Given the description of an element on the screen output the (x, y) to click on. 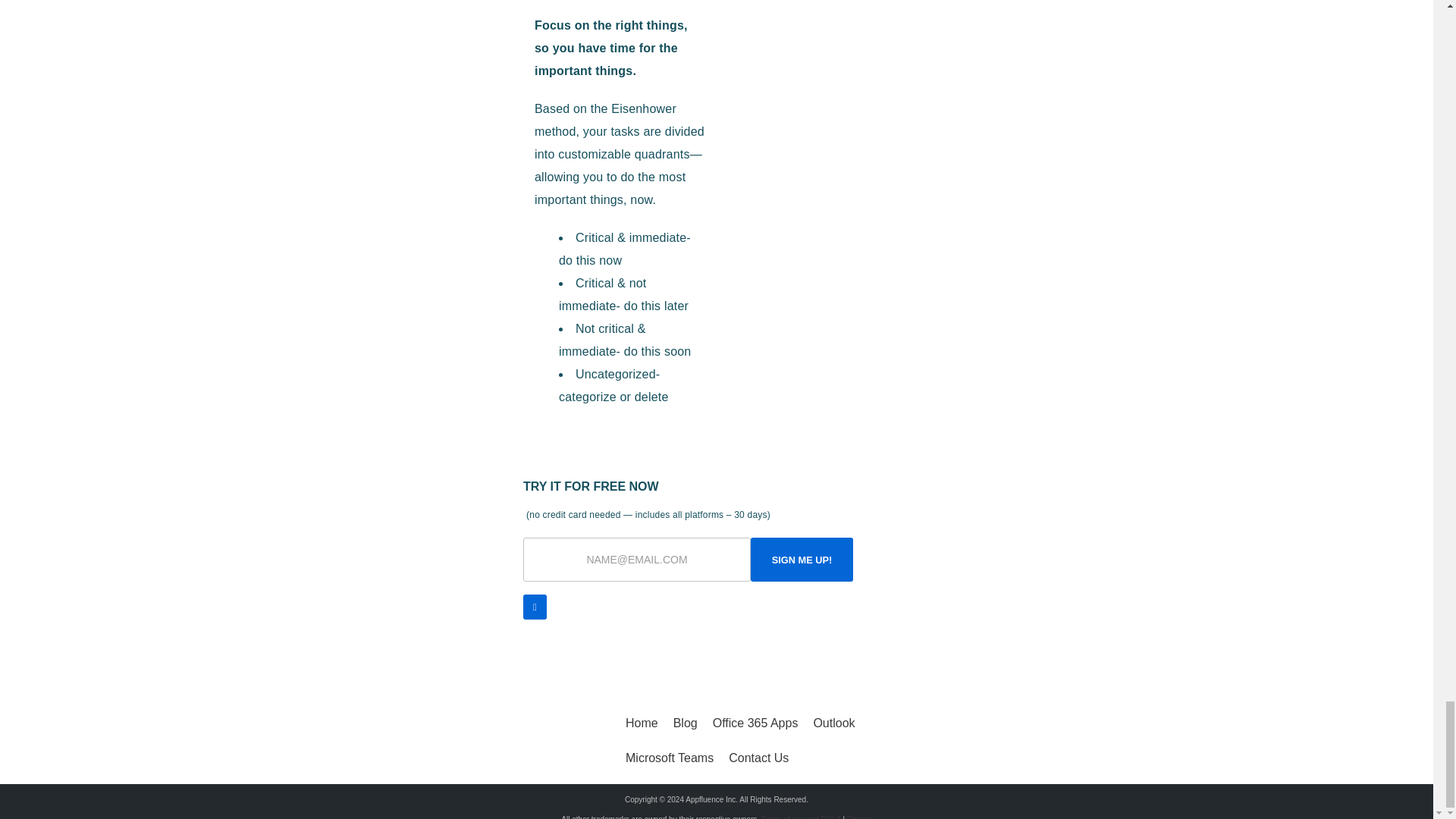
SIGN ME UP! (802, 559)
Outlook (833, 723)
Microsoft Teams (669, 758)
SIGN ME UP! (802, 559)
Contact Us (759, 758)
Office 365 Apps (755, 723)
Home (642, 723)
Blog (684, 723)
